Given the description of an element on the screen output the (x, y) to click on. 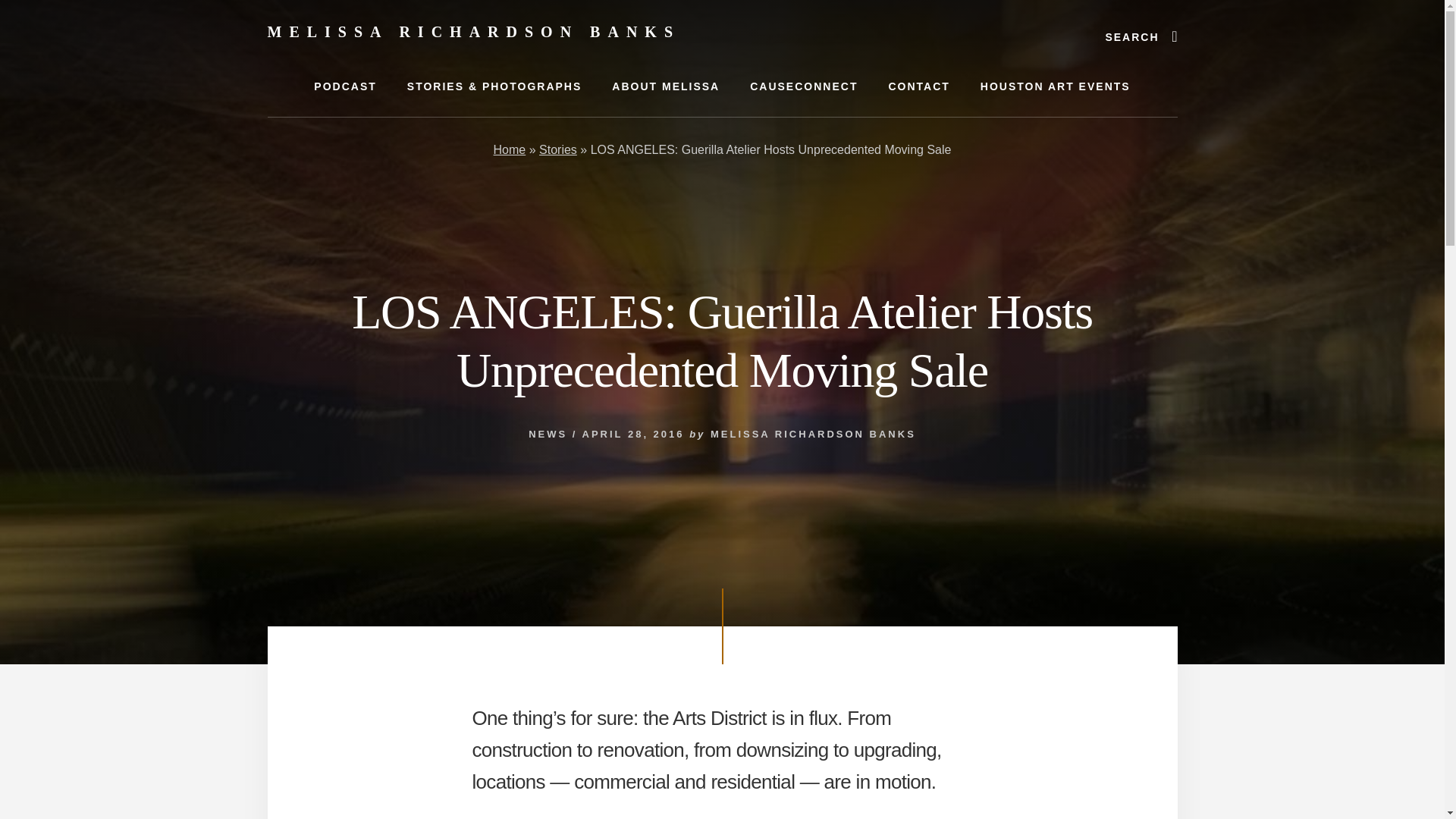
HOUSTON ART EVENTS (1055, 86)
About Melissa Richardson Banks (665, 86)
Houston Art Events (1055, 86)
ABOUT MELISSA (665, 86)
Stories (557, 149)
MELISSA RICHARDSON BANKS (812, 433)
Listen to MusedLA2HOU Podcast (344, 86)
PODCAST (344, 86)
Contact Melissa Richardson Banks (917, 86)
NEWS (547, 433)
CONTACT (917, 86)
